Given the description of an element on the screen output the (x, y) to click on. 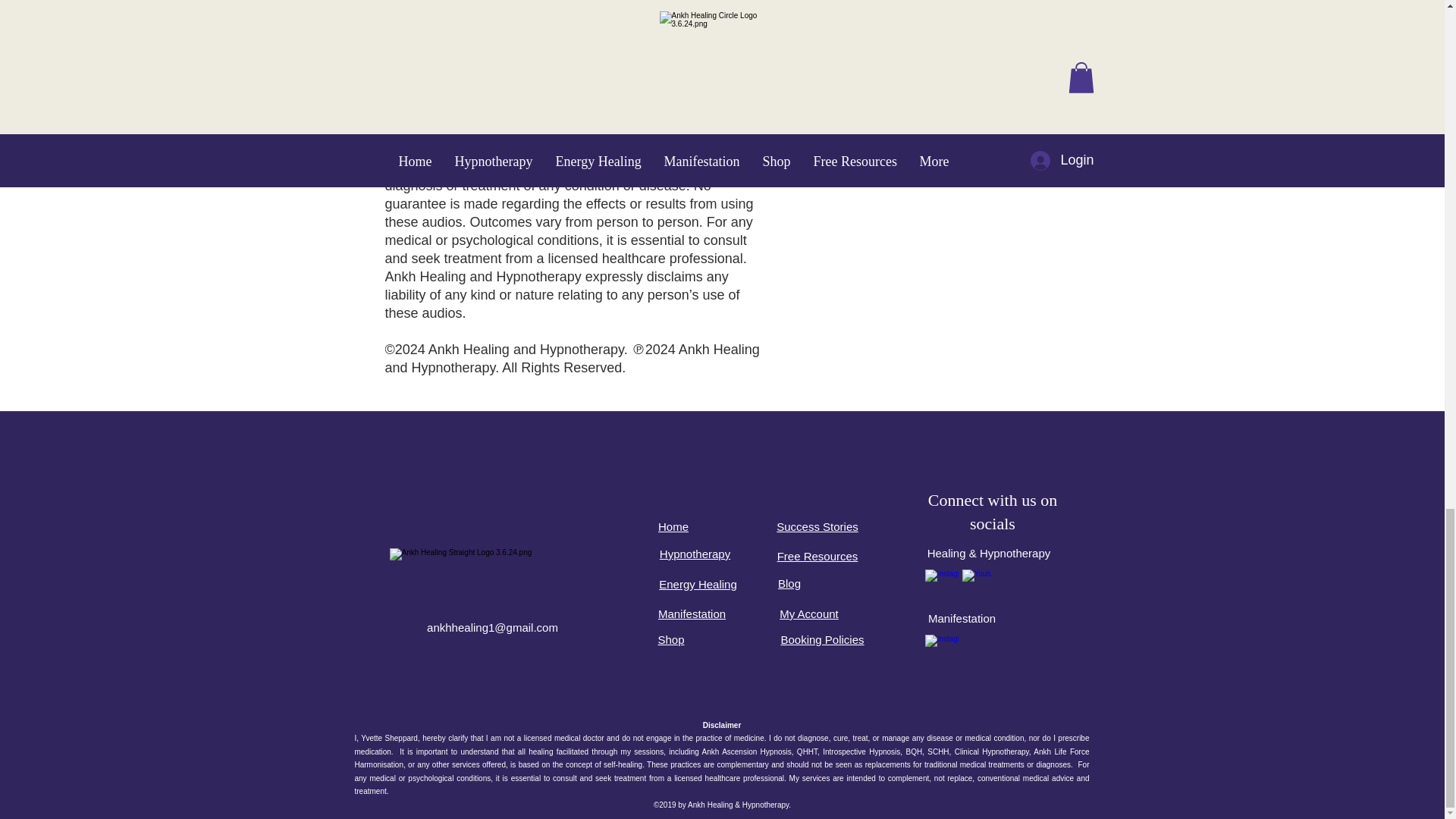
Free Resources (818, 555)
Shop (671, 639)
Booking Policies (821, 639)
Home (673, 526)
Energy Healing (697, 584)
Blog (788, 583)
Success Stories (817, 526)
My Account (808, 613)
Hypnotherapy (694, 553)
Manifestation (691, 613)
